Given the description of an element on the screen output the (x, y) to click on. 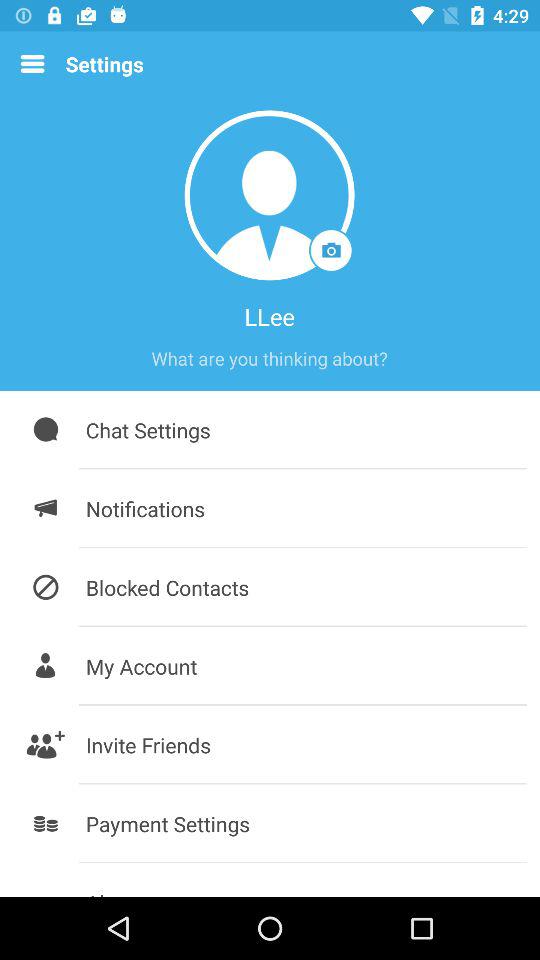
select icon below the llee item (269, 358)
